Given the description of an element on the screen output the (x, y) to click on. 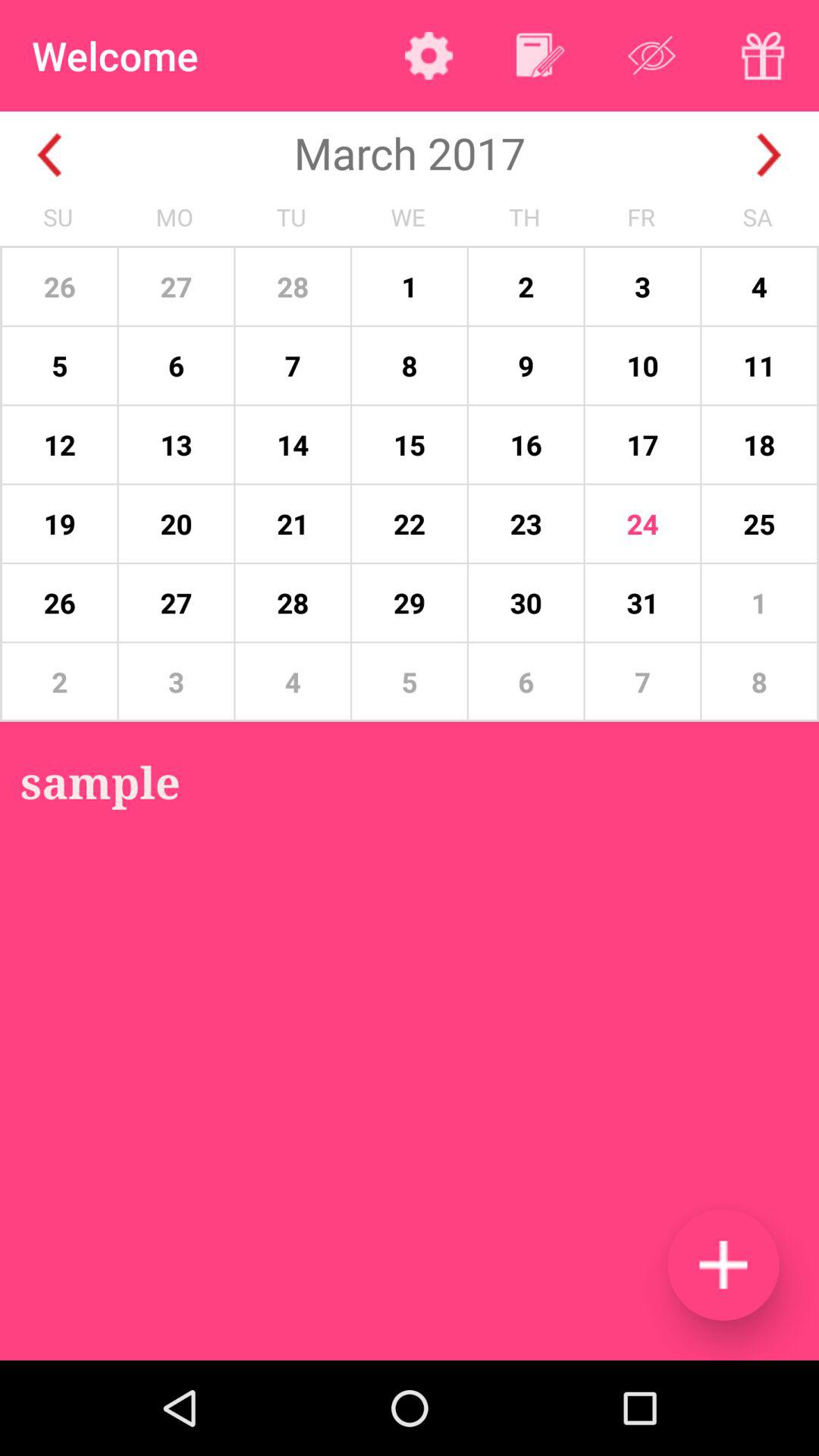
change information visibility (651, 55)
